Given the description of an element on the screen output the (x, y) to click on. 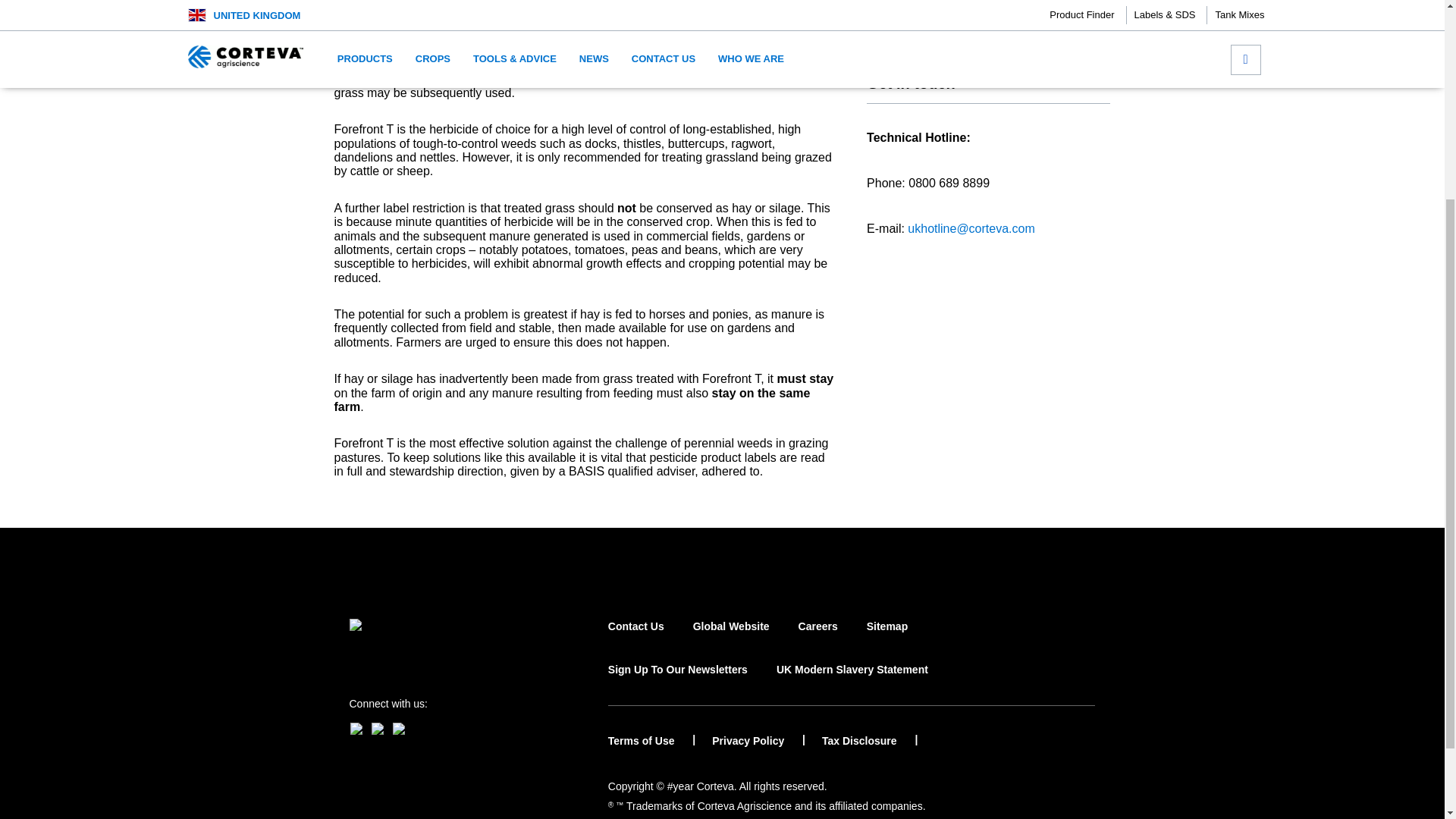
Sign Up To Our Newsletters (678, 683)
Careers (817, 640)
Terms of Use (651, 741)
Contact Us (635, 640)
Sitemap (886, 640)
Global Website (731, 640)
UK Modern Slavery Statement (852, 683)
Privacy Policy (758, 741)
Tax Disclosure (869, 741)
